Given the description of an element on the screen output the (x, y) to click on. 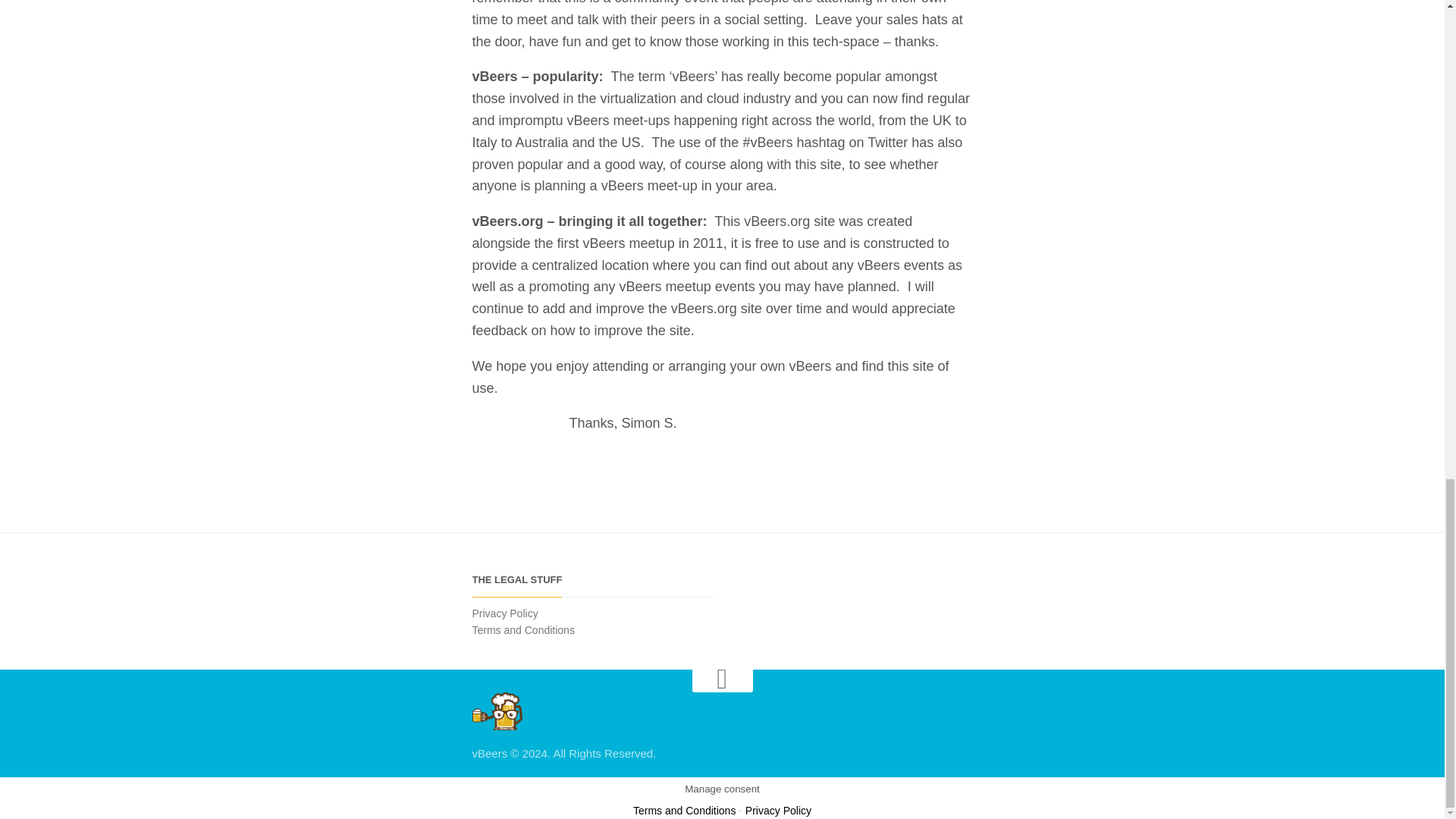
Privacy Policy (504, 613)
Terms and Conditions (684, 810)
Privacy Policy (777, 810)
Terms and Conditions (522, 630)
